Given the description of an element on the screen output the (x, y) to click on. 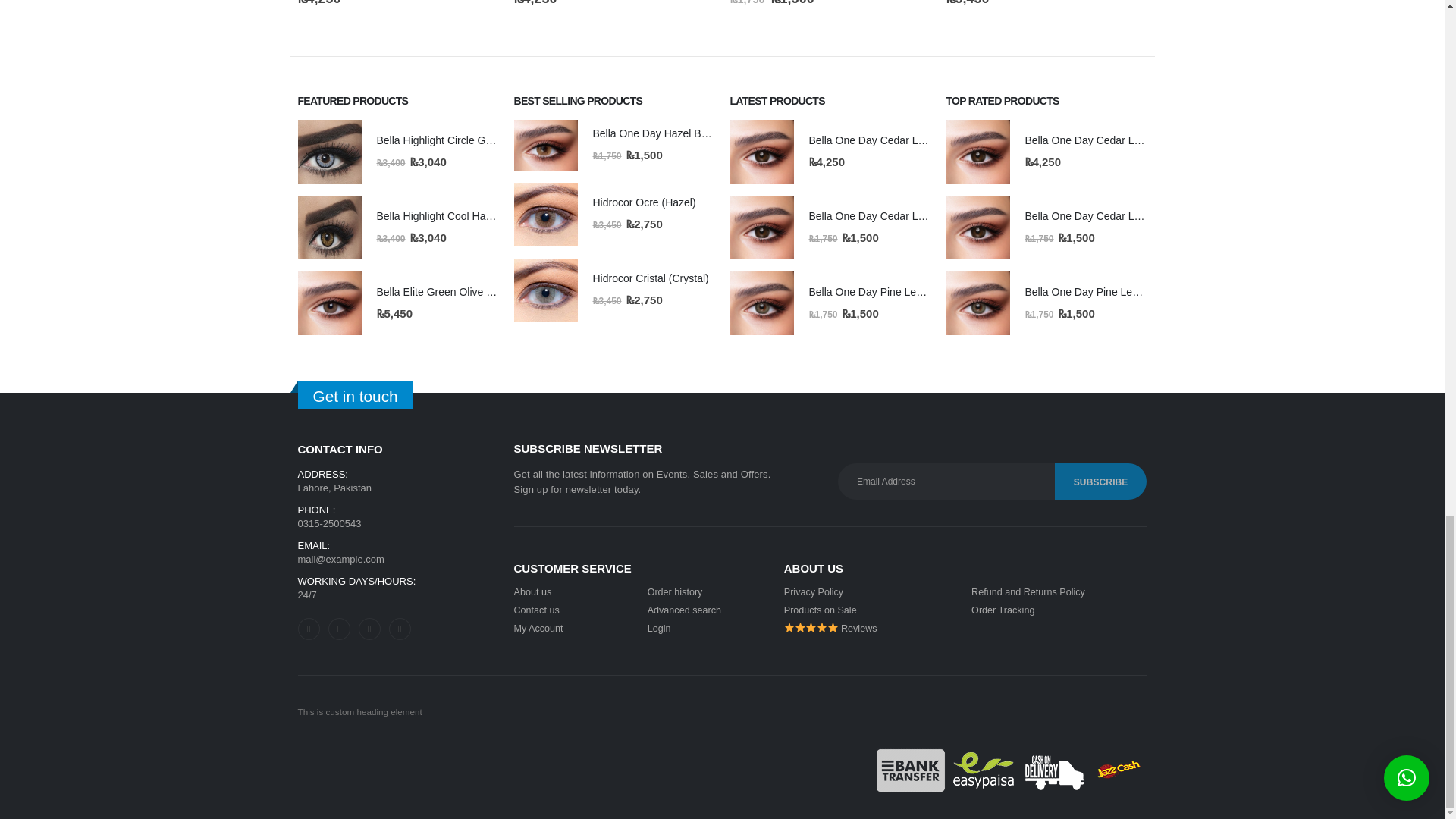
SUBSCRIBE (1100, 481)
